Given the description of an element on the screen output the (x, y) to click on. 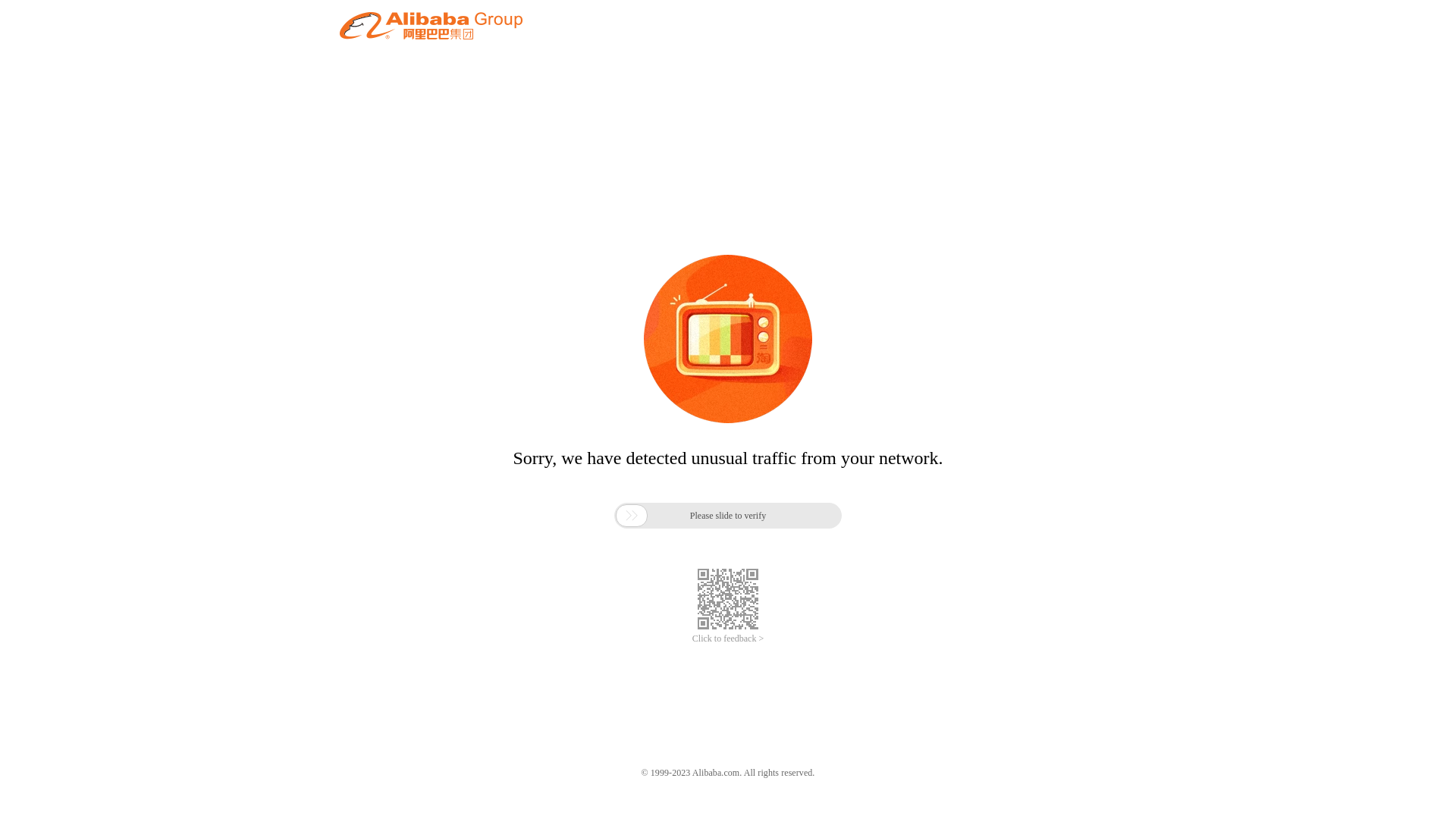
Click to feedback > Element type: text (727, 638)
